Given the description of an element on the screen output the (x, y) to click on. 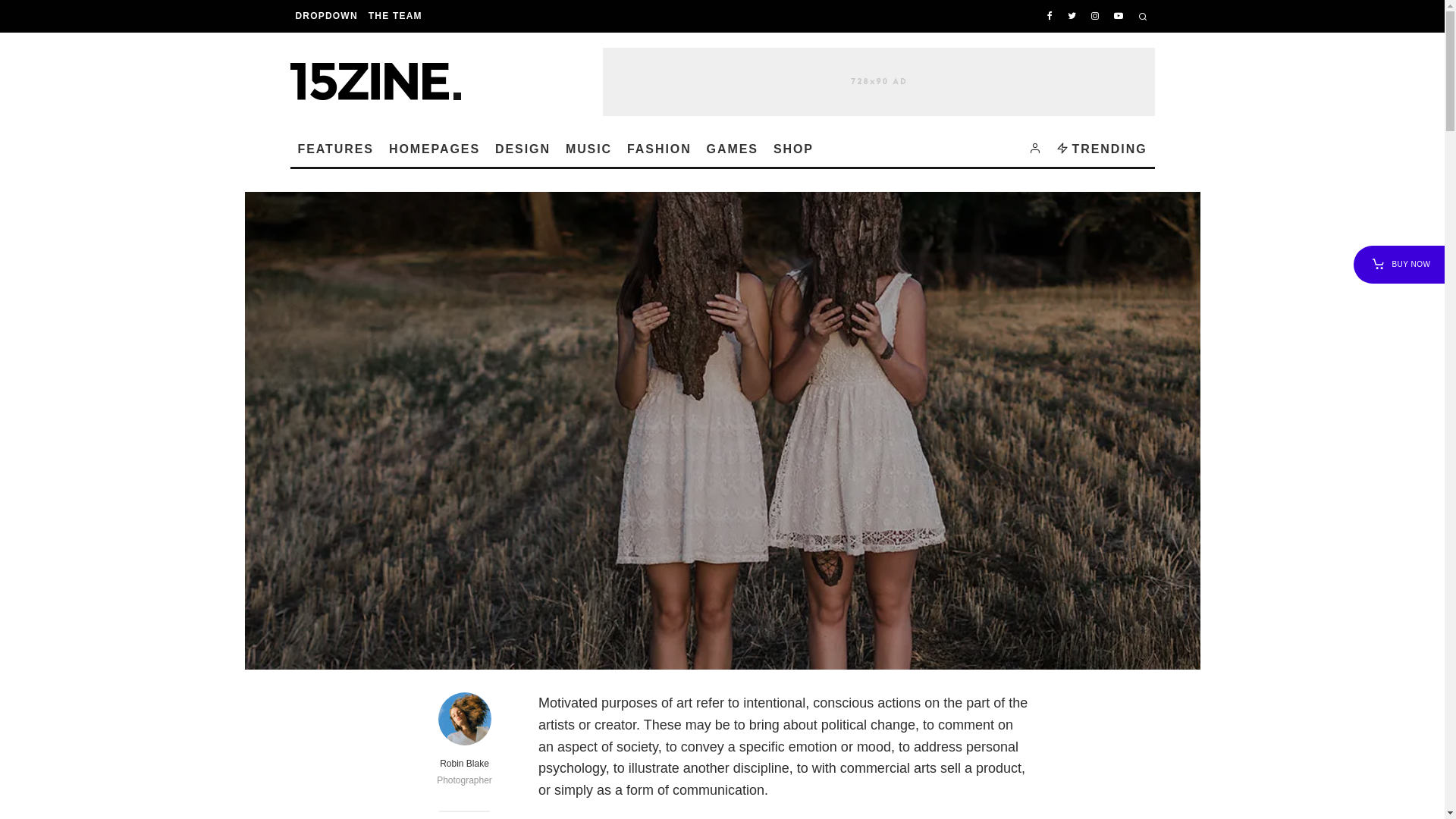
BUY NOW Element type: text (1398, 264)
DROPDOWN Element type: text (325, 15)
DESIGN Element type: text (522, 148)
GAMES Element type: text (732, 148)
TRENDING Element type: text (1101, 148)
Robin Blake Element type: text (464, 763)
SHOP Element type: text (793, 148)
MUSIC Element type: text (588, 148)
THE TEAM Element type: text (395, 15)
FEATURES Element type: text (334, 148)
FASHION Element type: text (659, 148)
HOMEPAGES Element type: text (434, 148)
